Given the description of an element on the screen output the (x, y) to click on. 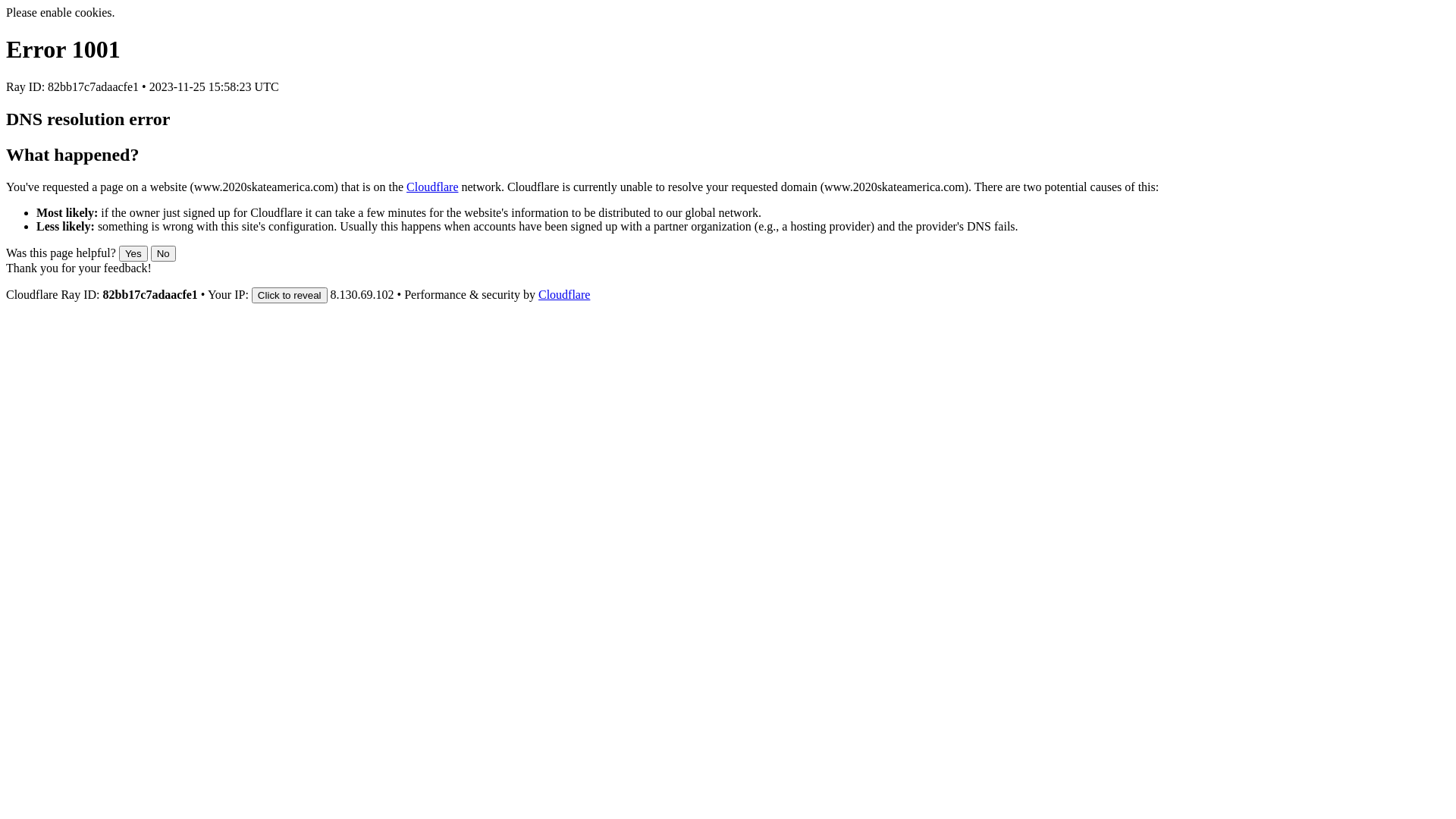
Cloudflare Element type: text (563, 294)
Yes Element type: text (133, 253)
No Element type: text (162, 253)
Cloudflare Element type: text (432, 186)
Click to reveal Element type: text (289, 295)
